Given the description of an element on the screen output the (x, y) to click on. 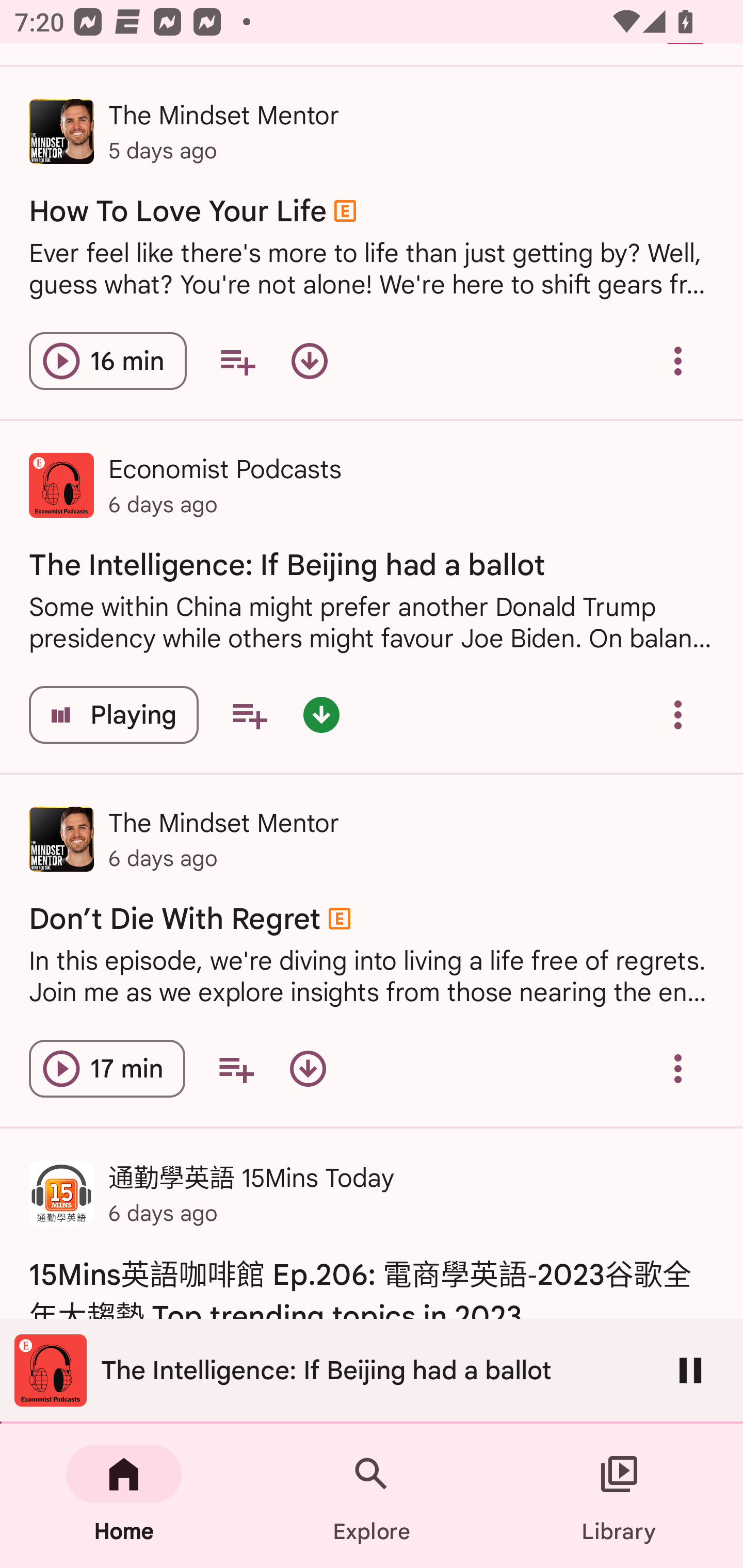
Play episode How To Love Your Life 16 min (107, 361)
Add to your queue (237, 361)
Download episode (309, 361)
Overflow menu (677, 361)
Add to your queue (249, 714)
Episode downloaded - double tap for options (321, 714)
Overflow menu (677, 714)
Play episode Don’t Die With Regret 17 min (106, 1068)
Add to your queue (235, 1068)
Download episode (307, 1068)
Overflow menu (677, 1068)
Pause (690, 1370)
Explore (371, 1495)
Library (619, 1495)
